Given the description of an element on the screen output the (x, y) to click on. 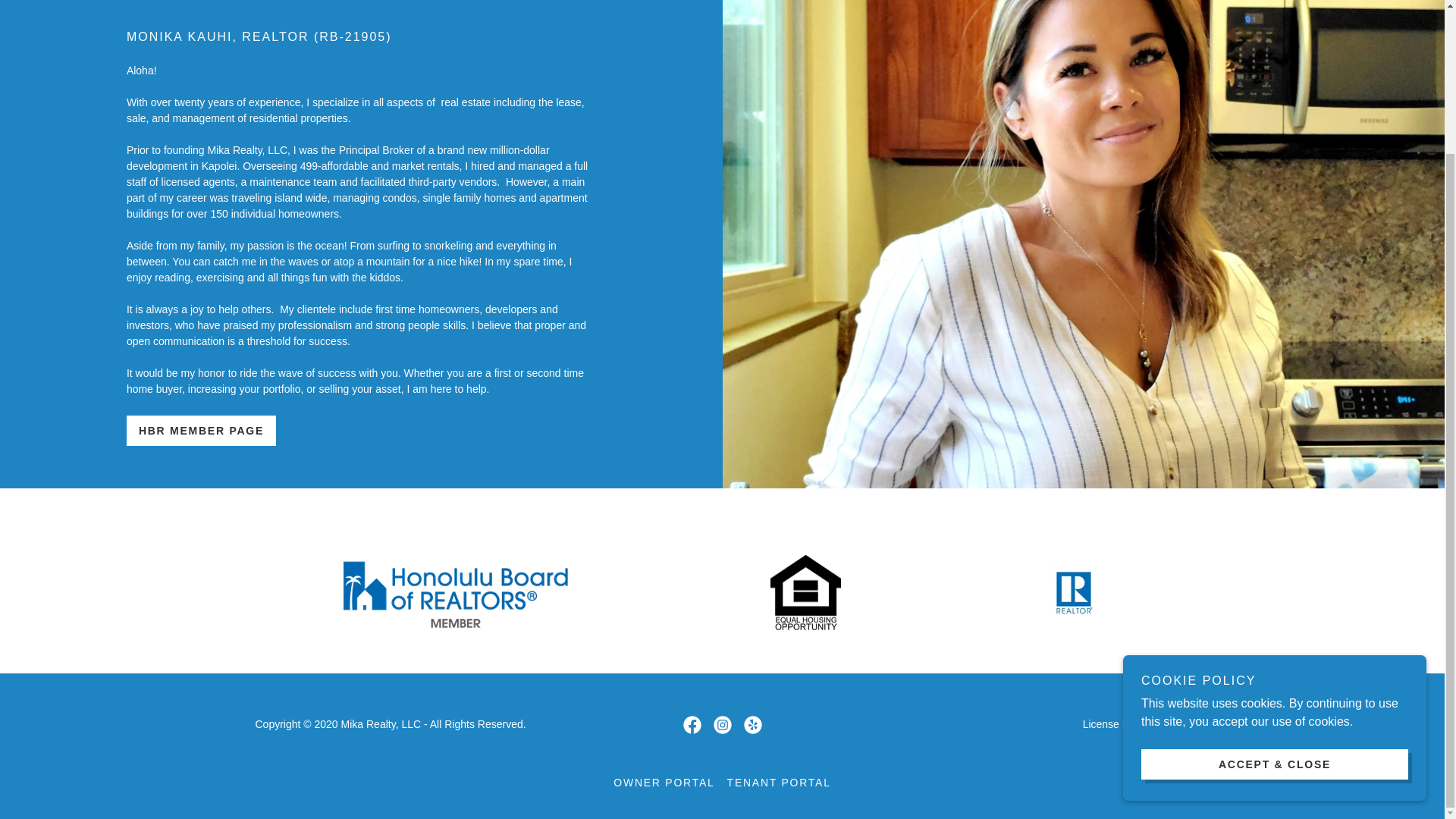
OWNER PORTAL (663, 782)
HBR MEMBER PAGE (201, 430)
TENANT PORTAL (778, 782)
